Given the description of an element on the screen output the (x, y) to click on. 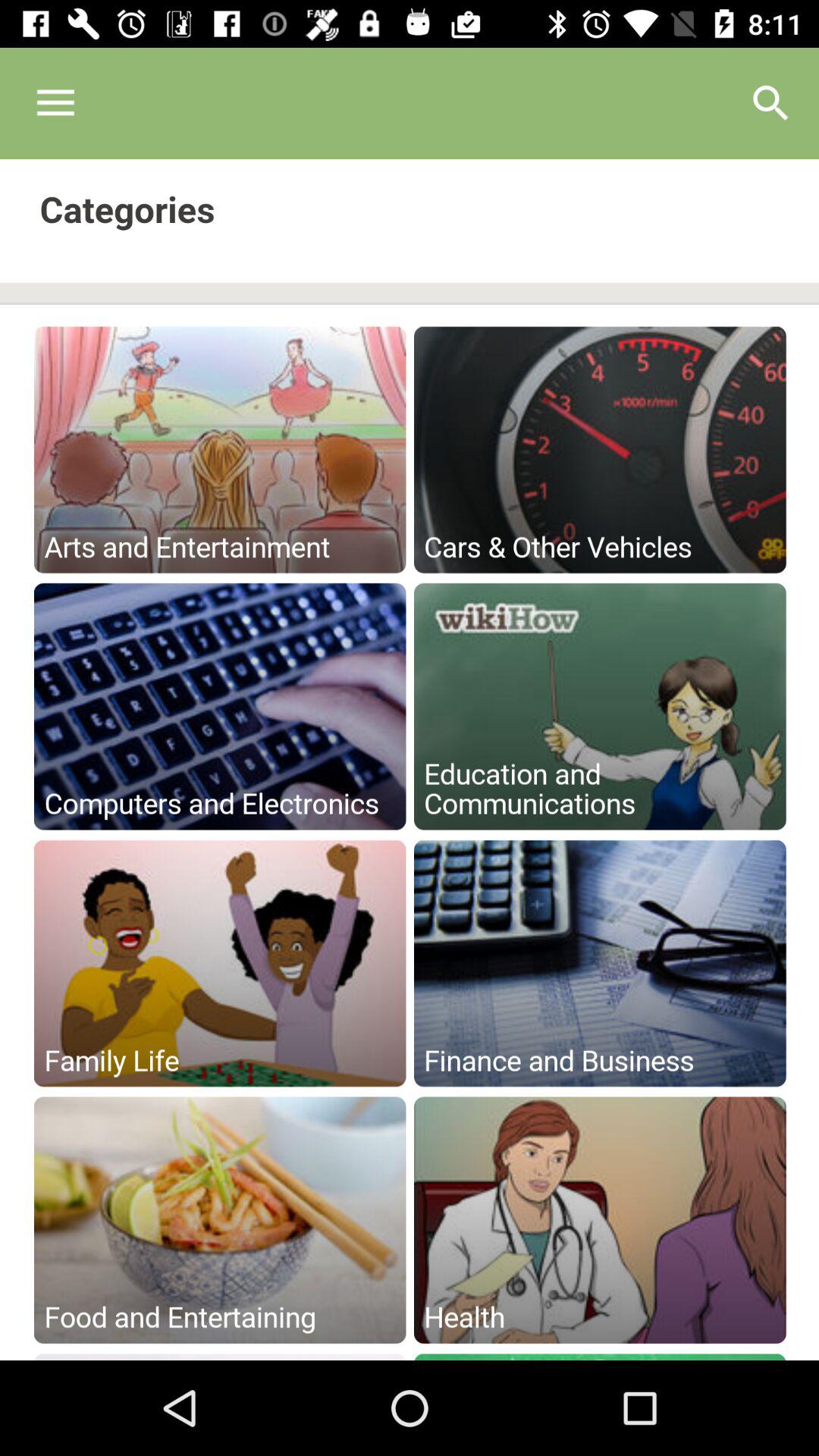
front end (409, 759)
